Given the description of an element on the screen output the (x, y) to click on. 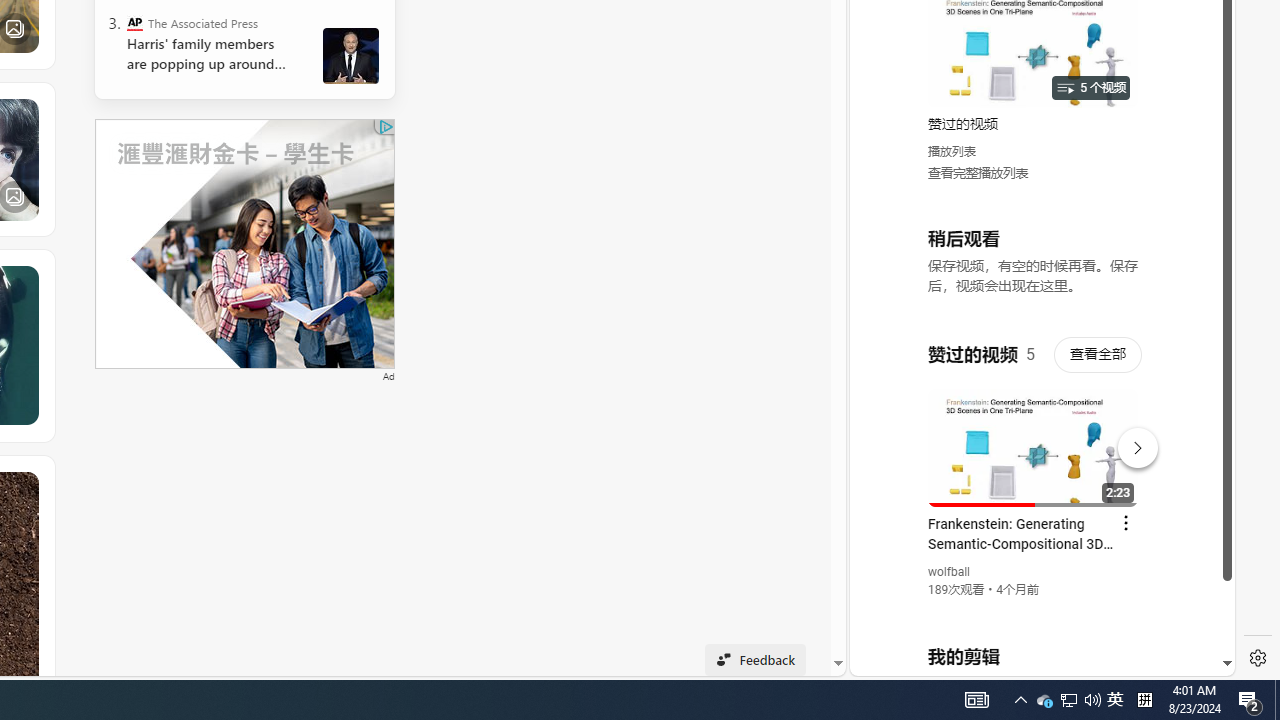
wolfball (949, 572)
Actions for this site (1131, 443)
Class: qc-adchoices-icon (386, 126)
See more (24, 486)
Class: dict_pnIcon rms_img (1028, 660)
US[ju] (917, 660)
Click to scroll right (1196, 83)
Settings (1258, 658)
